Given the description of an element on the screen output the (x, y) to click on. 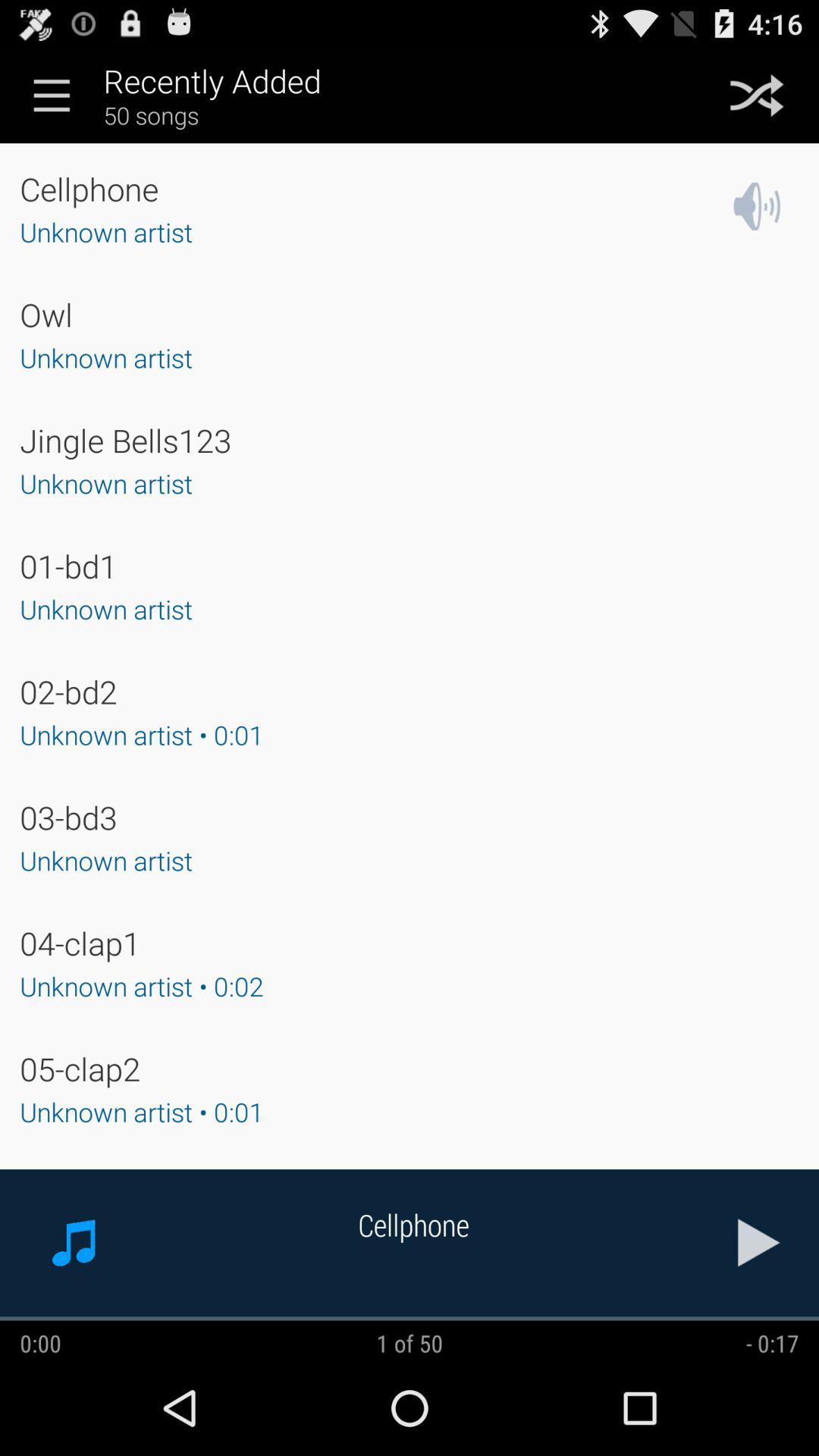
tap app below the unknown artist (68, 691)
